Given the description of an element on the screen output the (x, y) to click on. 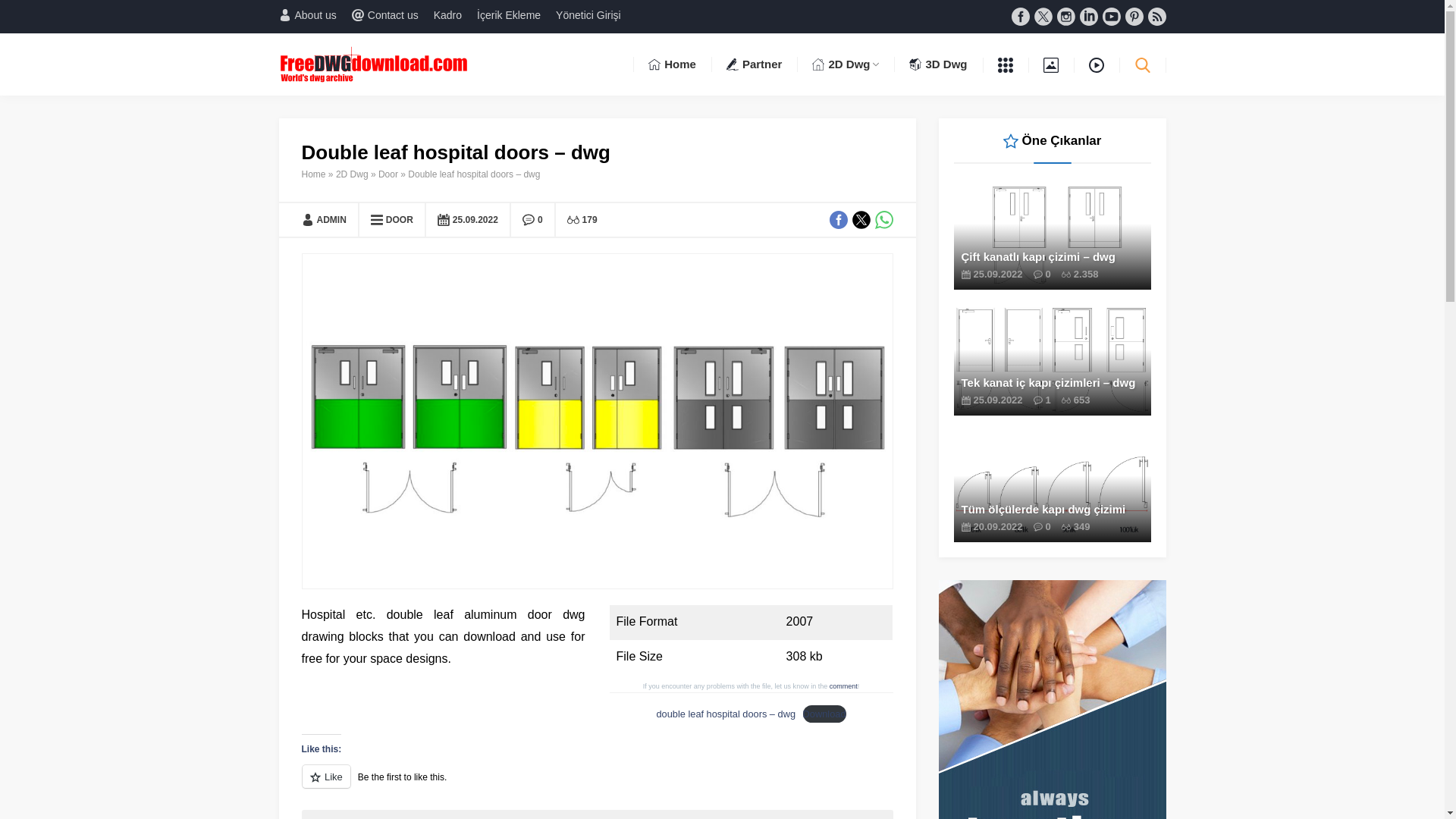
Contact us (385, 14)
About us (307, 14)
Instagram (1066, 16)
Facebook (1020, 16)
Twitter (1042, 16)
Kadro (447, 14)
